Given the description of an element on the screen output the (x, y) to click on. 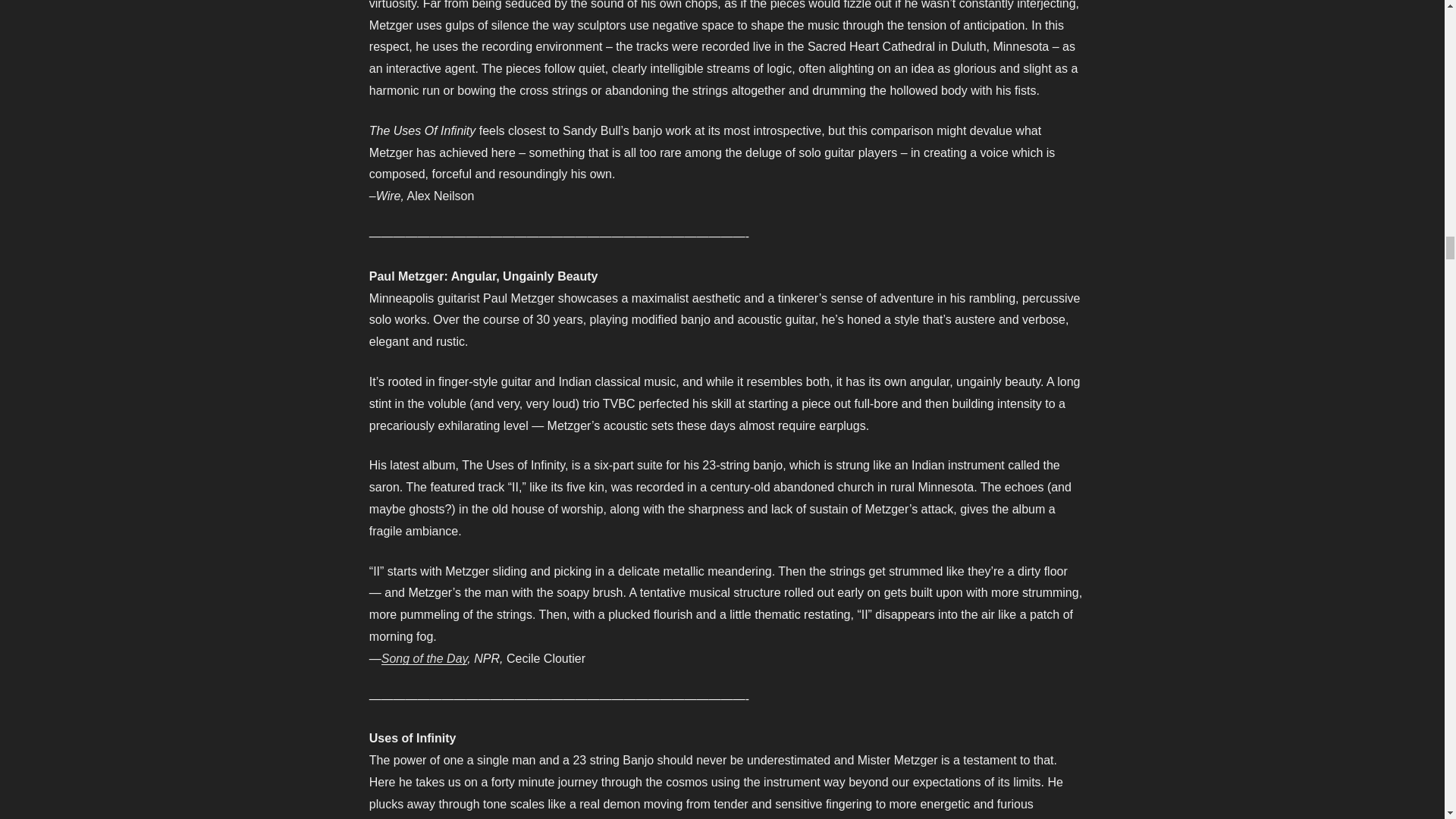
Song of the Day (424, 658)
